Given the description of an element on the screen output the (x, y) to click on. 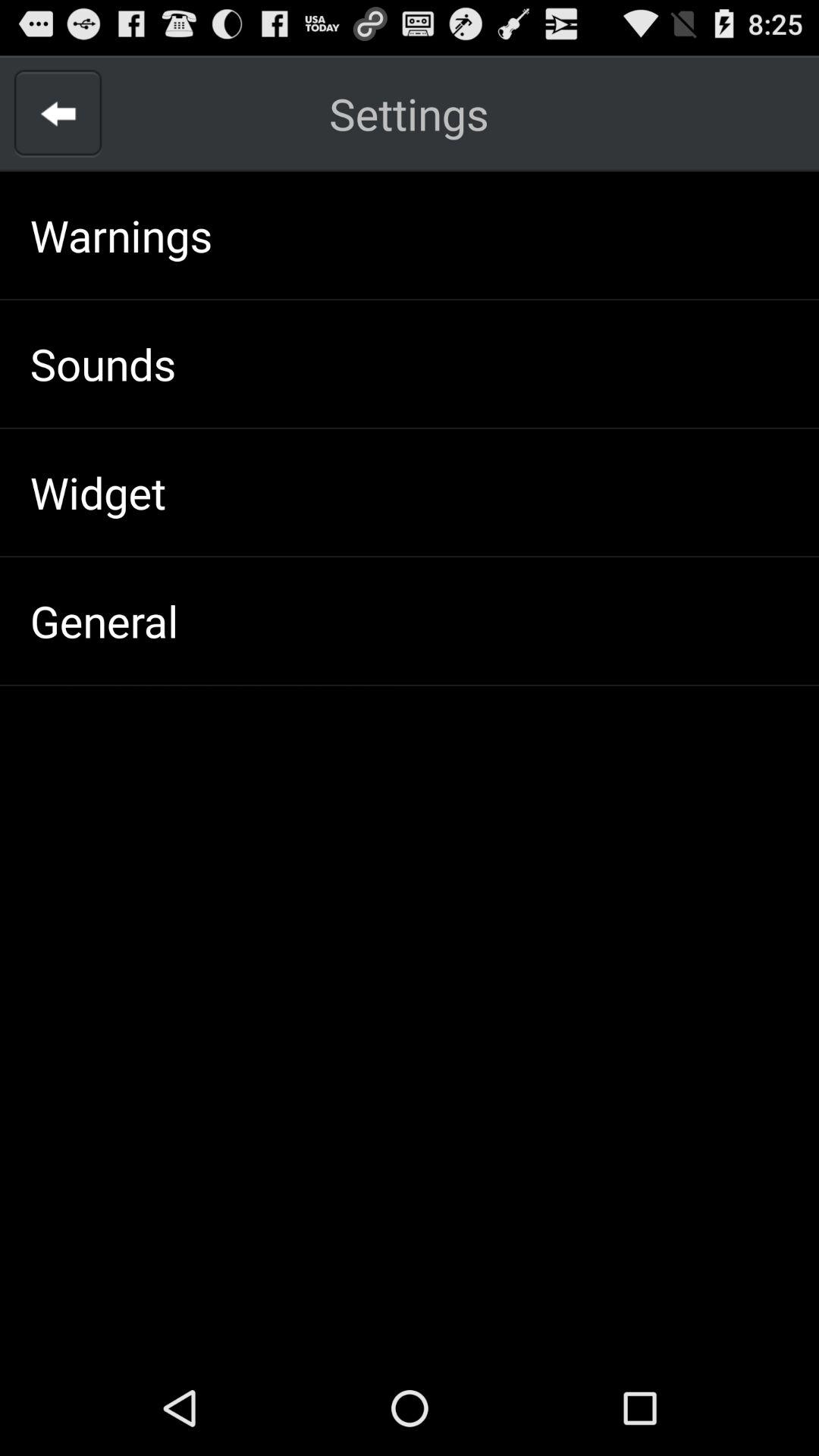
press the app next to settings app (57, 113)
